Given the description of an element on the screen output the (x, y) to click on. 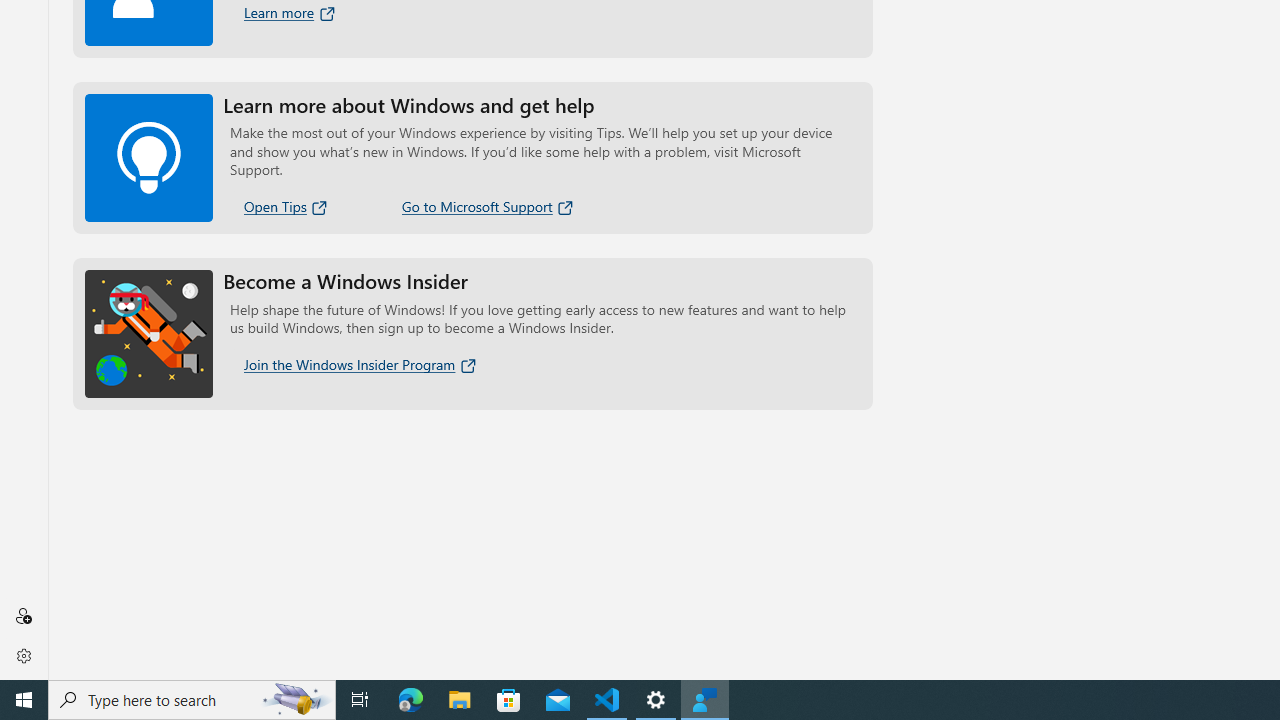
Settings (23, 655)
Start (24, 699)
Go to Microsoft Support (488, 206)
Sign in (23, 616)
File Explorer (460, 699)
Search highlights icon opens search home window (295, 699)
Microsoft Edge (411, 699)
Type here to search (191, 699)
Visual Studio Code - 1 running window (607, 699)
Microsoft Store (509, 699)
Join the Windows Insider Program (361, 364)
Feedback Hub - 1 running window (704, 699)
Open Tips (286, 206)
Settings - 1 running window (656, 699)
